Given the description of an element on the screen output the (x, y) to click on. 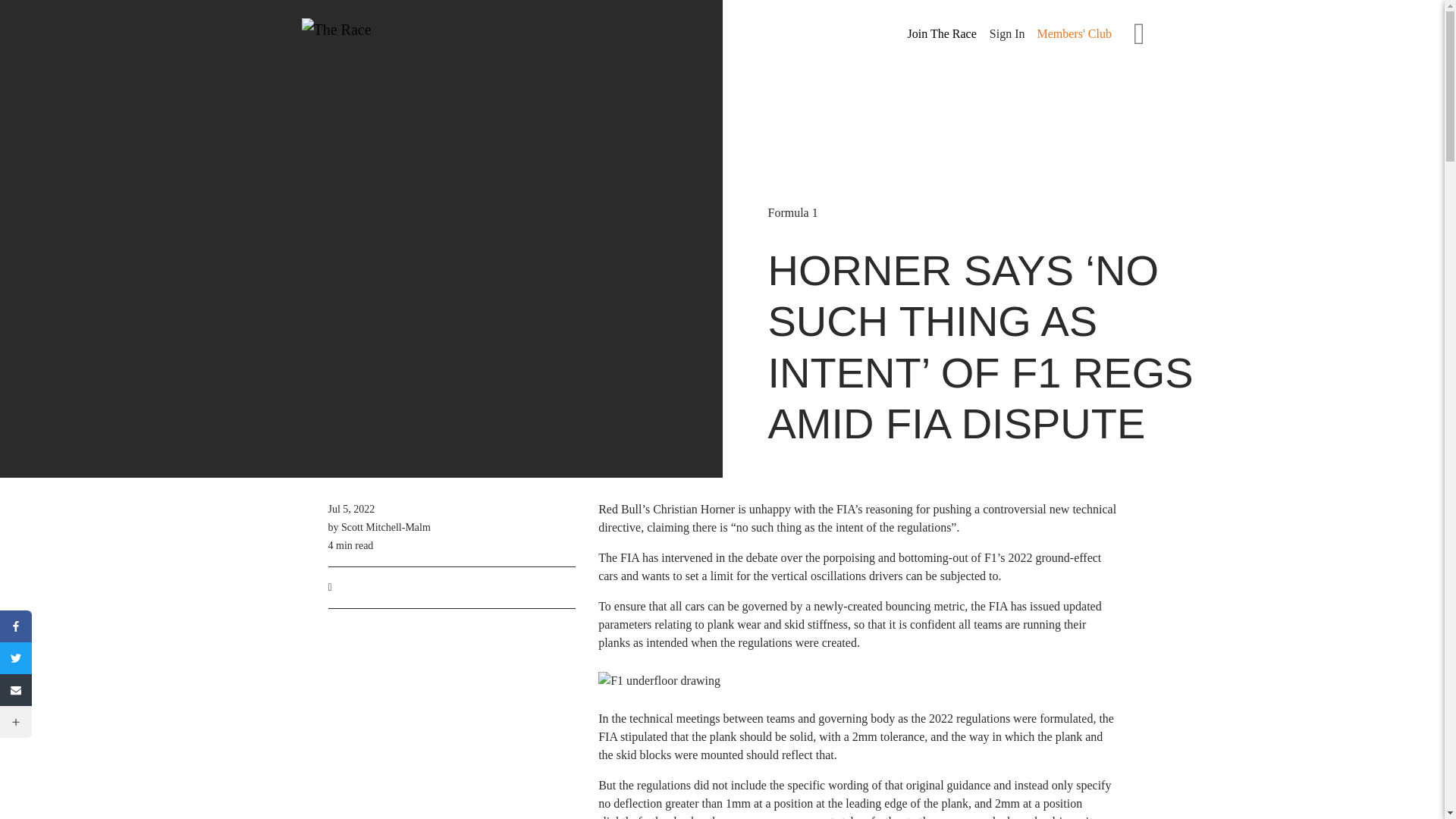
Sign In (1007, 33)
Members' Club (1073, 33)
Join The Race (941, 34)
